Given the description of an element on the screen output the (x, y) to click on. 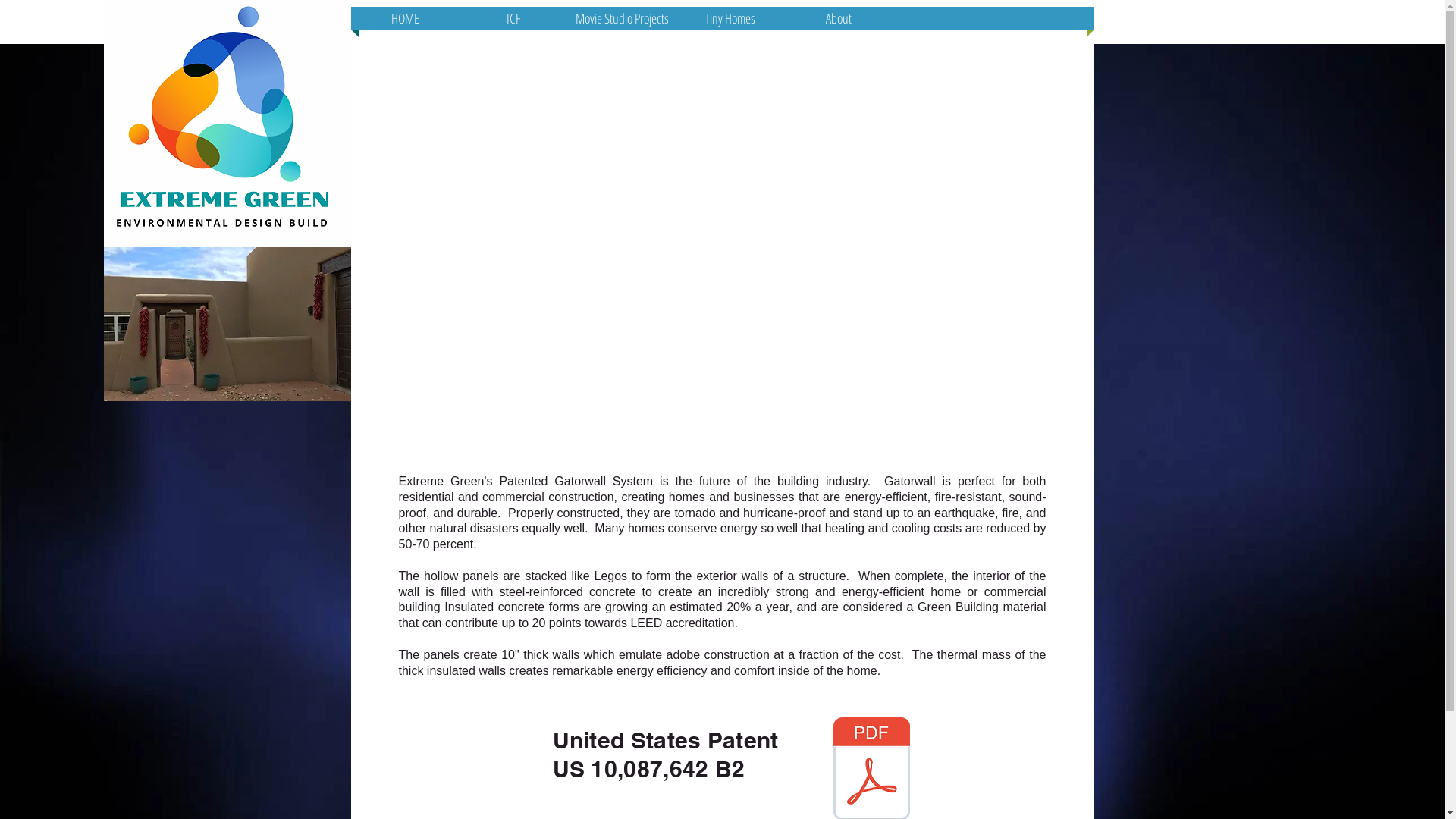
ICF Element type: text (513, 17)
Movie Studio Projects Element type: text (621, 17)
About Element type: text (838, 17)
Tiny Homes Element type: text (730, 17)
HOME Element type: text (404, 17)
